Given the description of an element on the screen output the (x, y) to click on. 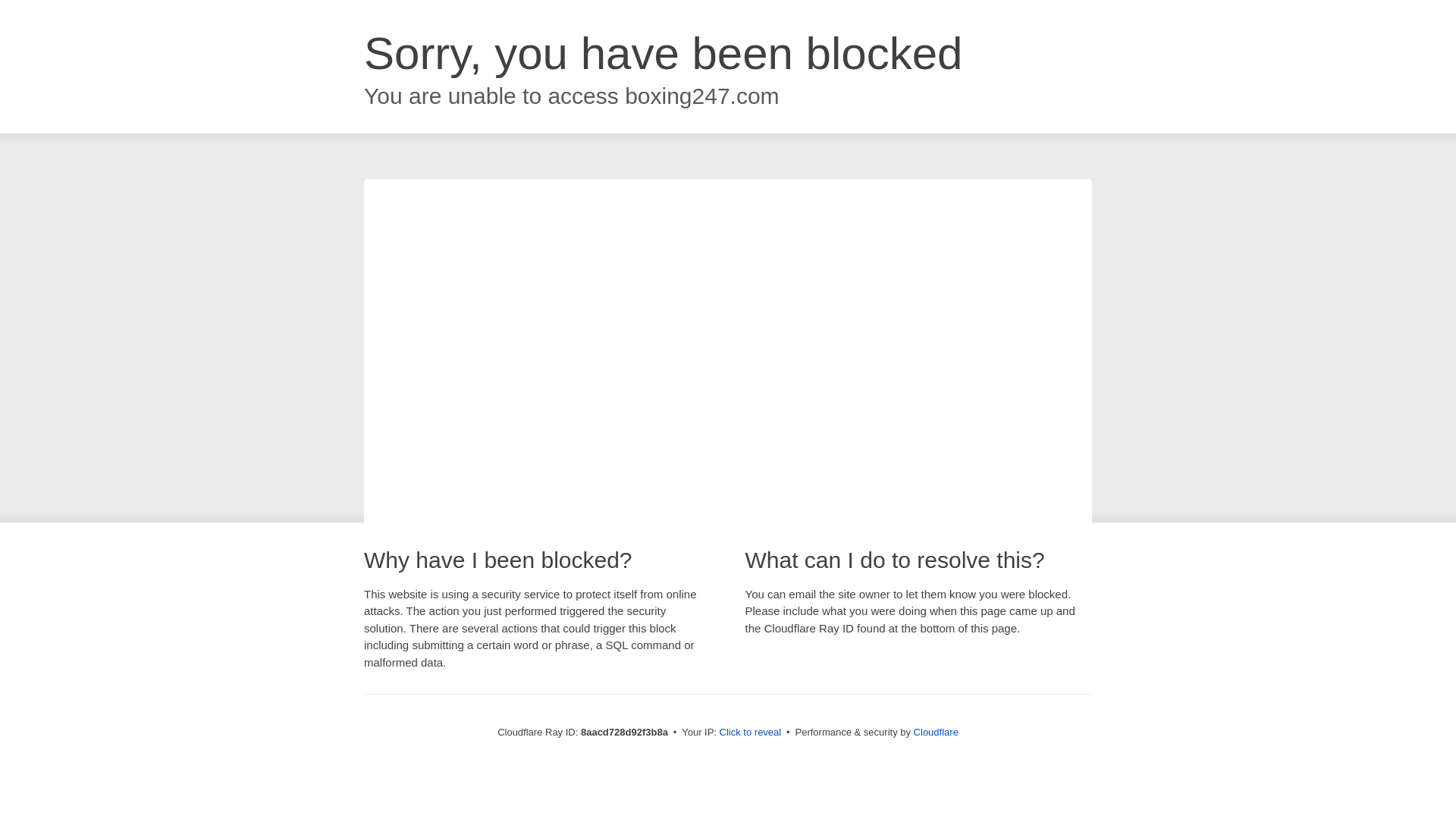
Cloudflare (936, 731)
Click to reveal (750, 732)
